Given the description of an element on the screen output the (x, y) to click on. 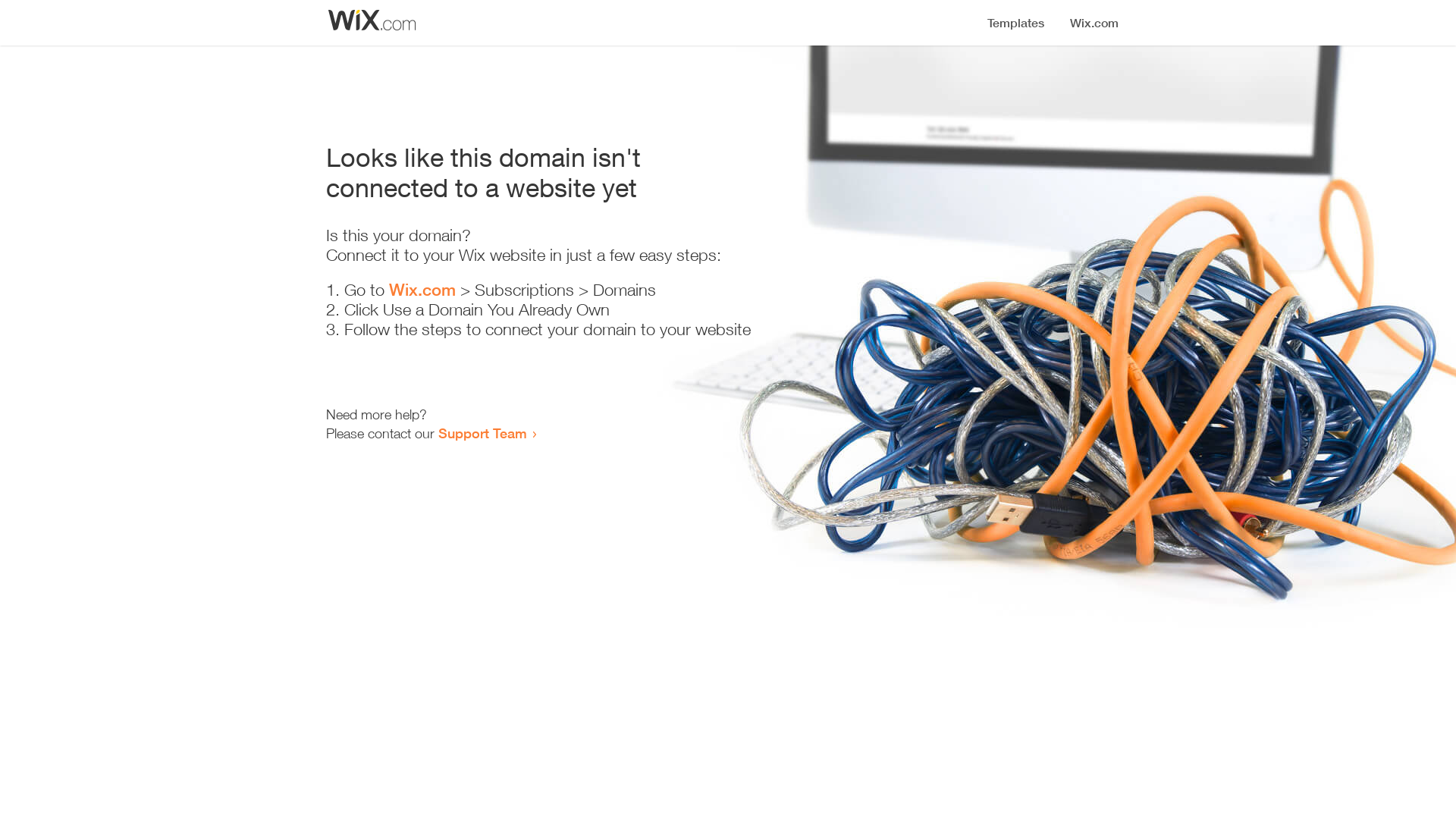
Wix.com Element type: text (422, 289)
Support Team Element type: text (482, 432)
